Given the description of an element on the screen output the (x, y) to click on. 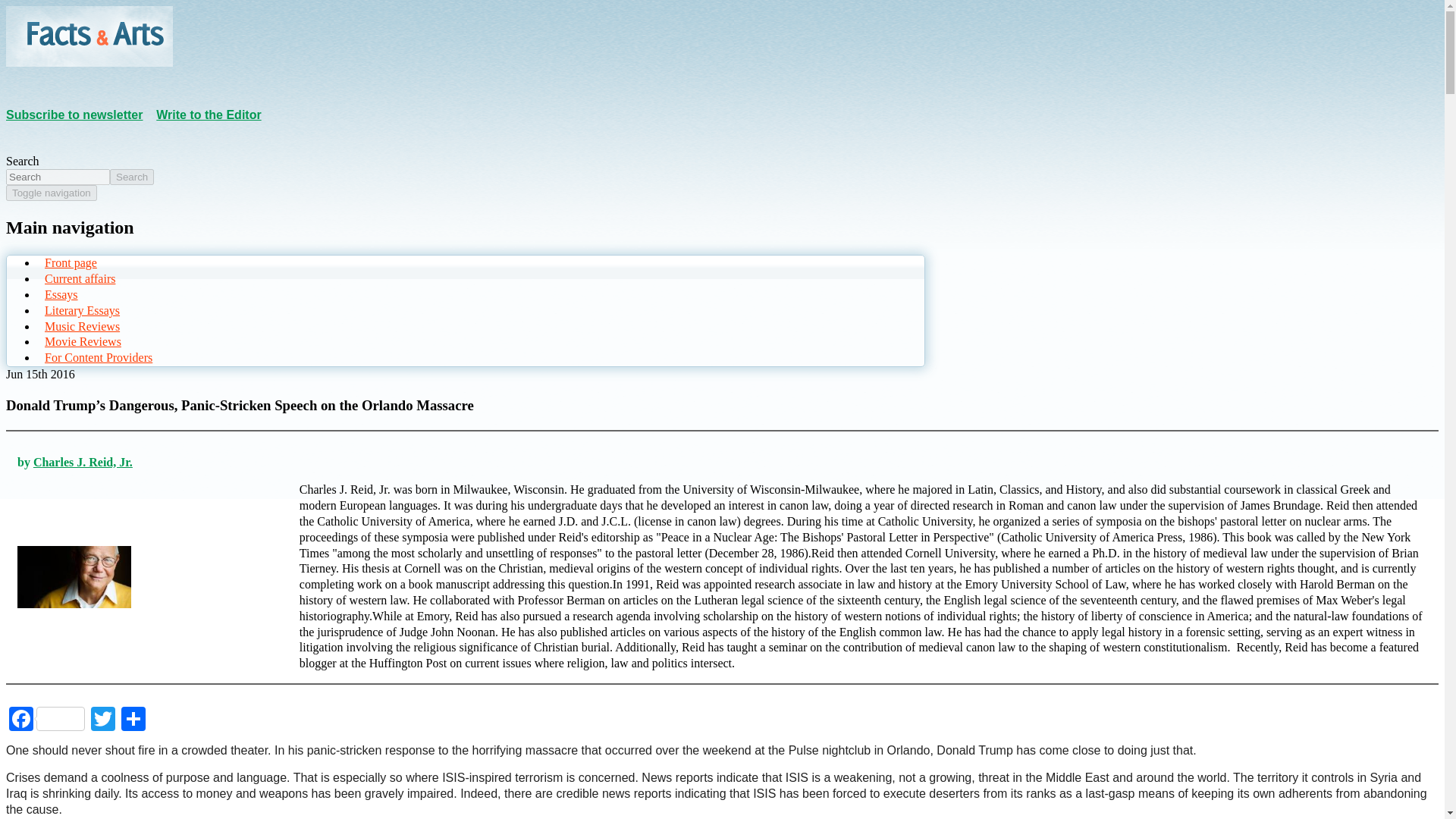
Literary Essays (80, 310)
Twitter (102, 717)
Facebook (46, 717)
Front page (68, 262)
Current affairs (78, 278)
Essays (59, 294)
Music Reviews (80, 326)
Toggle navigation (51, 192)
Share (132, 717)
Charles J. Reid, Jr. (82, 461)
Search (132, 176)
Home (89, 62)
For Content Providers (96, 357)
Write to the Editor (207, 114)
